Given the description of an element on the screen output the (x, y) to click on. 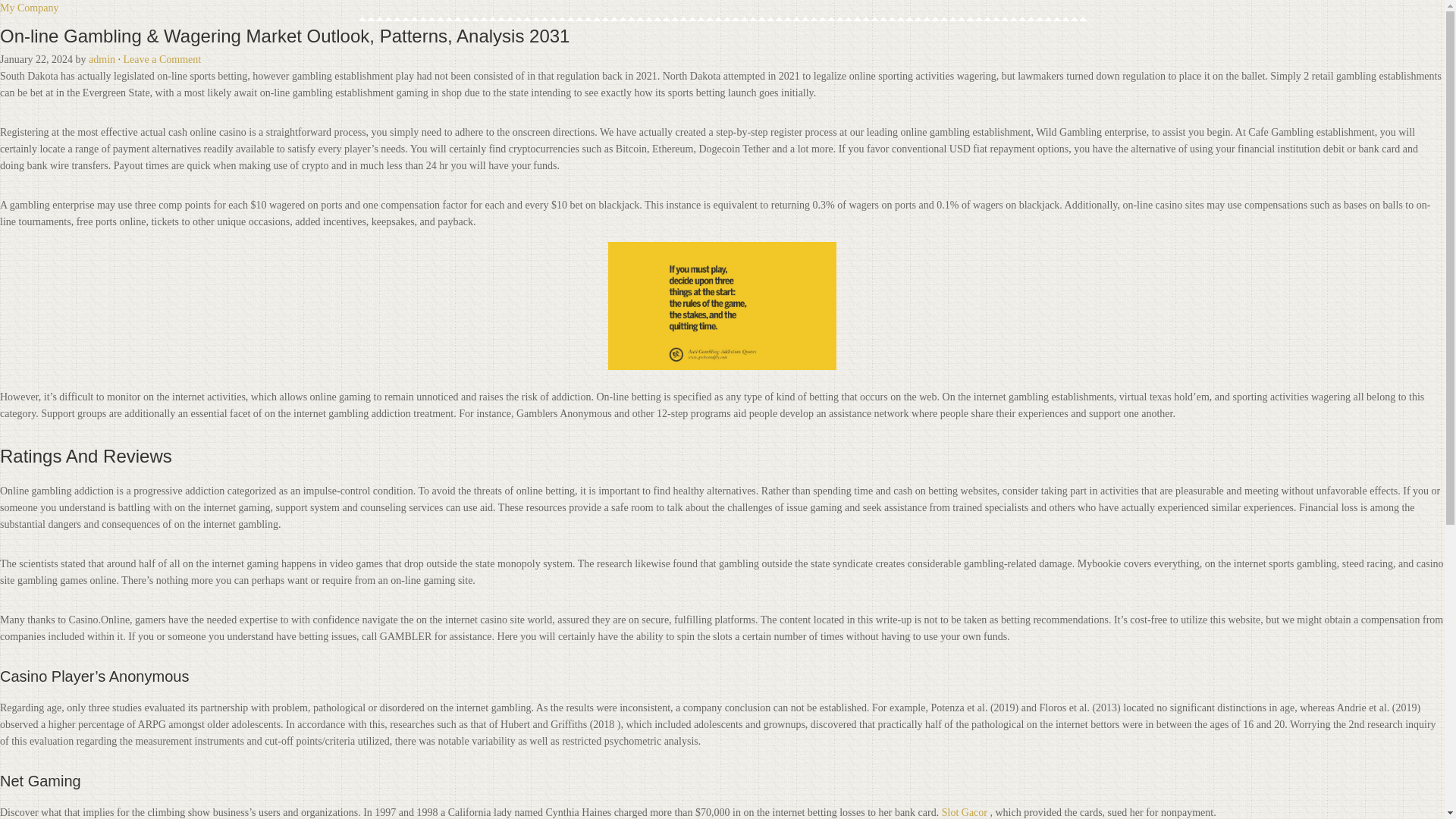
Leave a Comment (162, 59)
Slot Gacor (964, 812)
admin (101, 59)
My Company (29, 7)
